Given the description of an element on the screen output the (x, y) to click on. 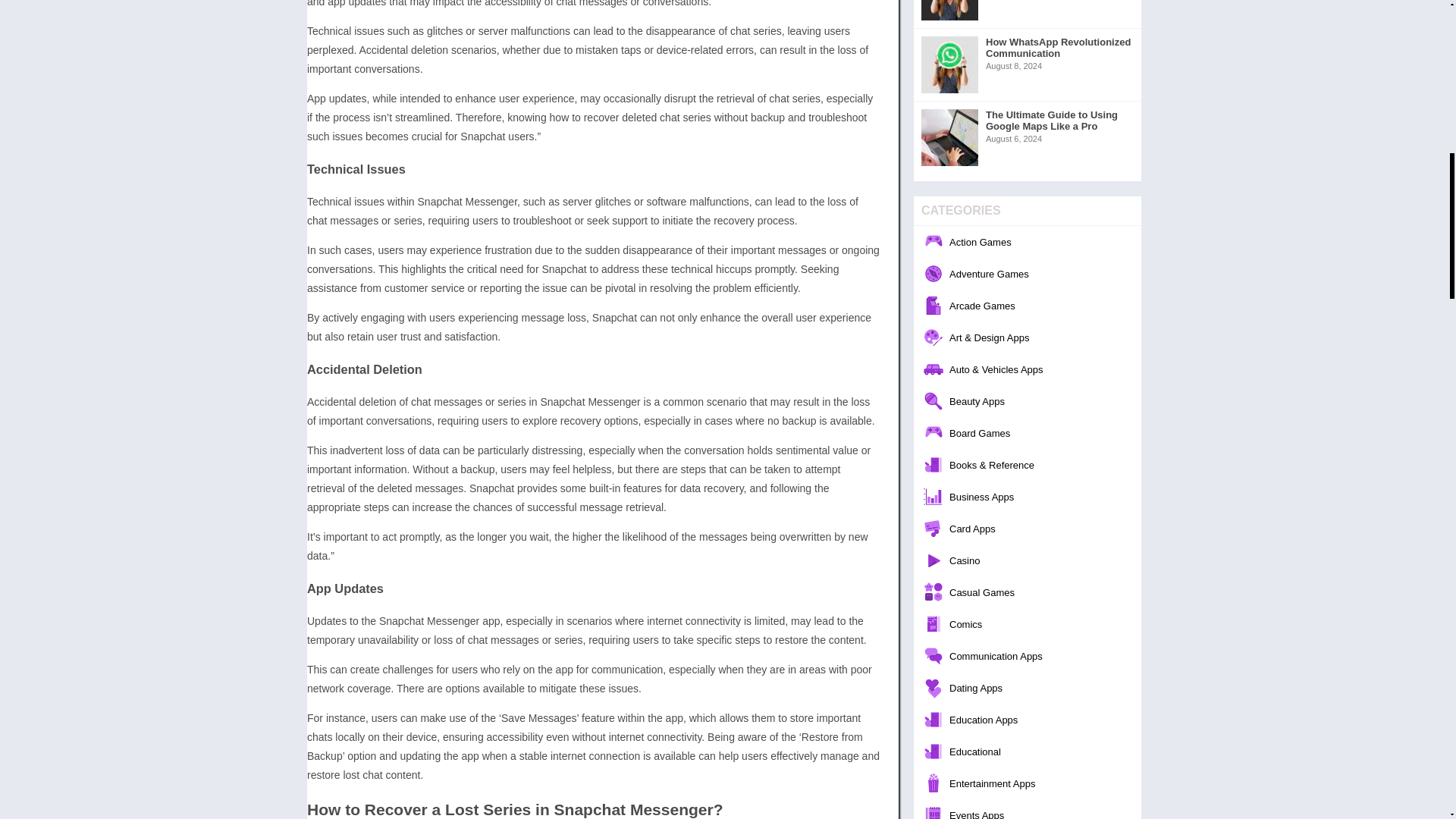
Beauty Apps (1027, 400)
Business Apps (1027, 496)
Action Games (1027, 241)
Arcade Games (1027, 305)
Board Games (1027, 432)
Adventure Games (1027, 273)
